Given the description of an element on the screen output the (x, y) to click on. 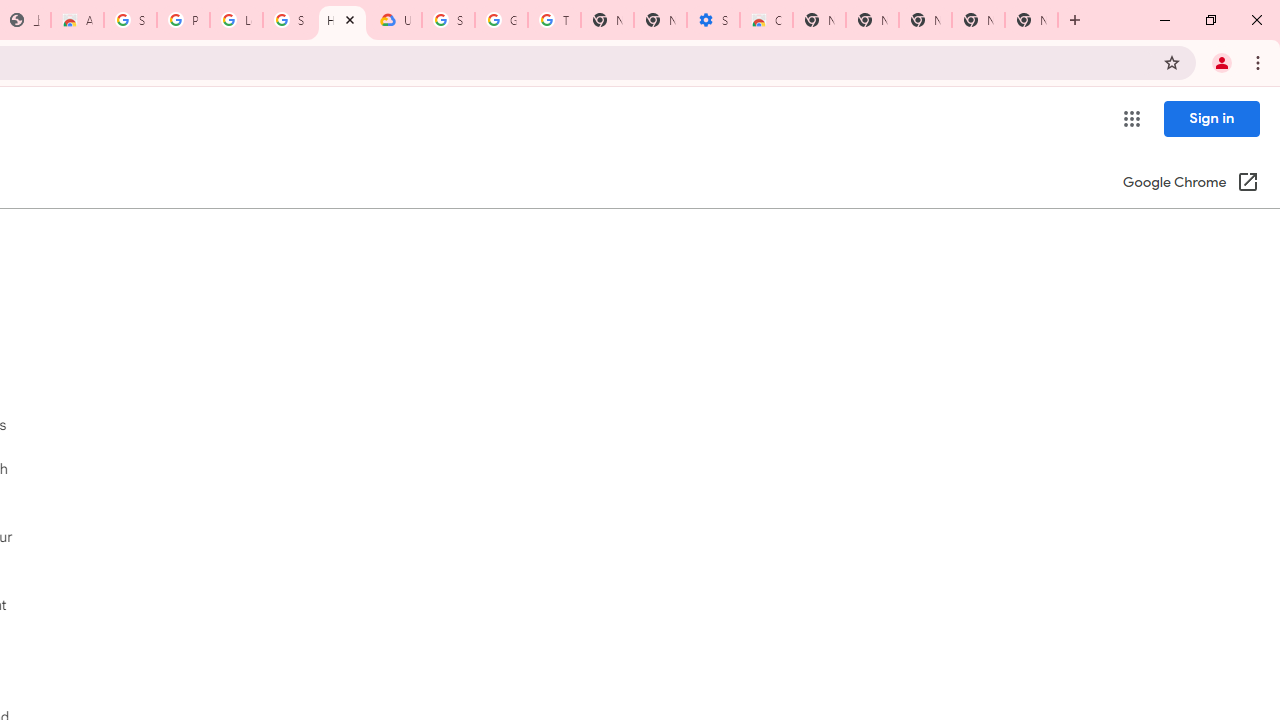
Awesome Screen Recorder & Screenshot - Chrome Web Store (77, 20)
Google Chrome (Open in a new window) (1190, 183)
New Tab (925, 20)
Sign in - Google Accounts (289, 20)
New Tab (819, 20)
New Tab (1031, 20)
Chrome Web Store - Accessibility extensions (766, 20)
